Given the description of an element on the screen output the (x, y) to click on. 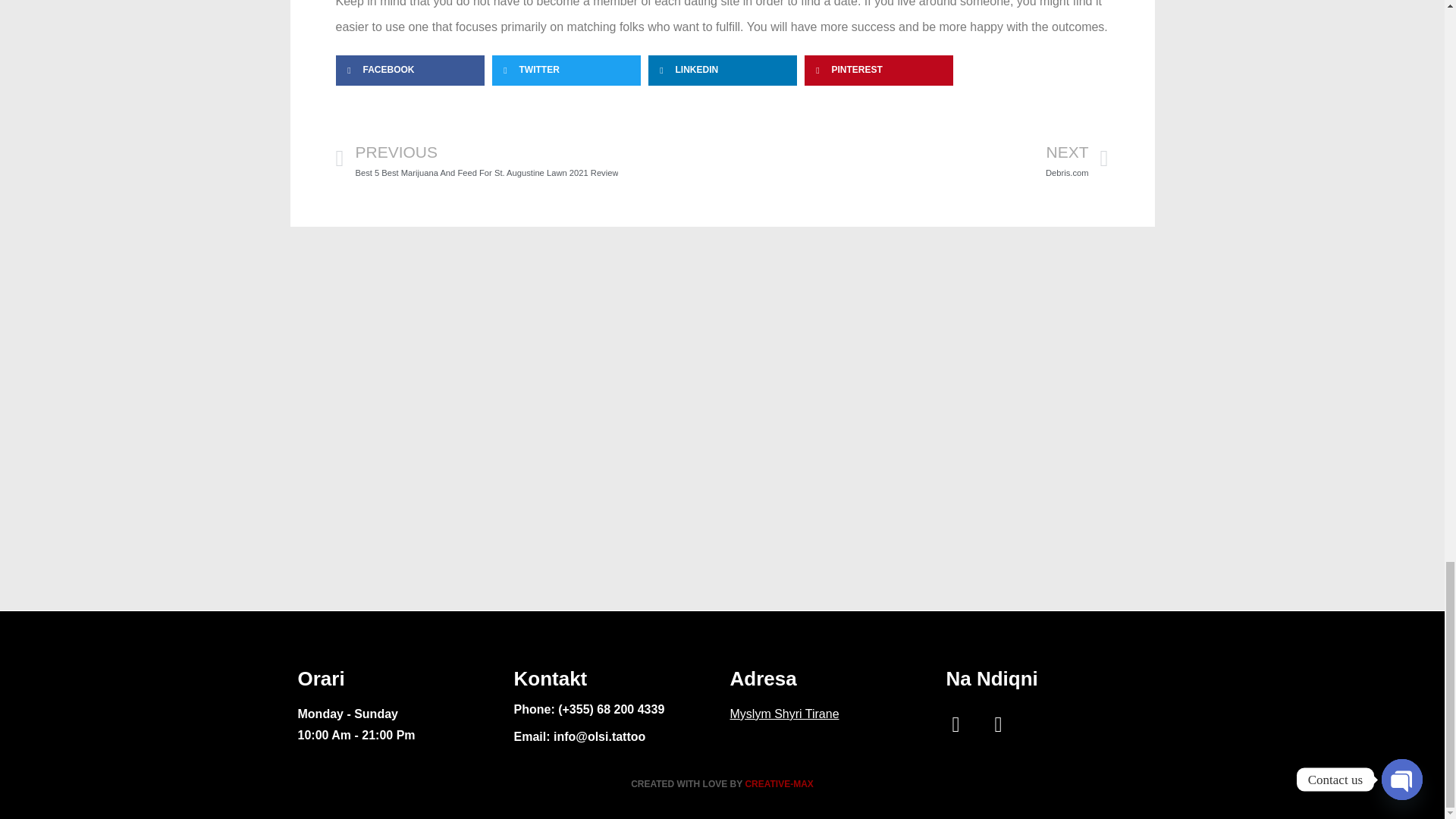
Myslym Shyri Tirane (783, 713)
CREATED WITH LOVE BY CREATIVE-MAX (721, 783)
